Given the description of an element on the screen output the (x, y) to click on. 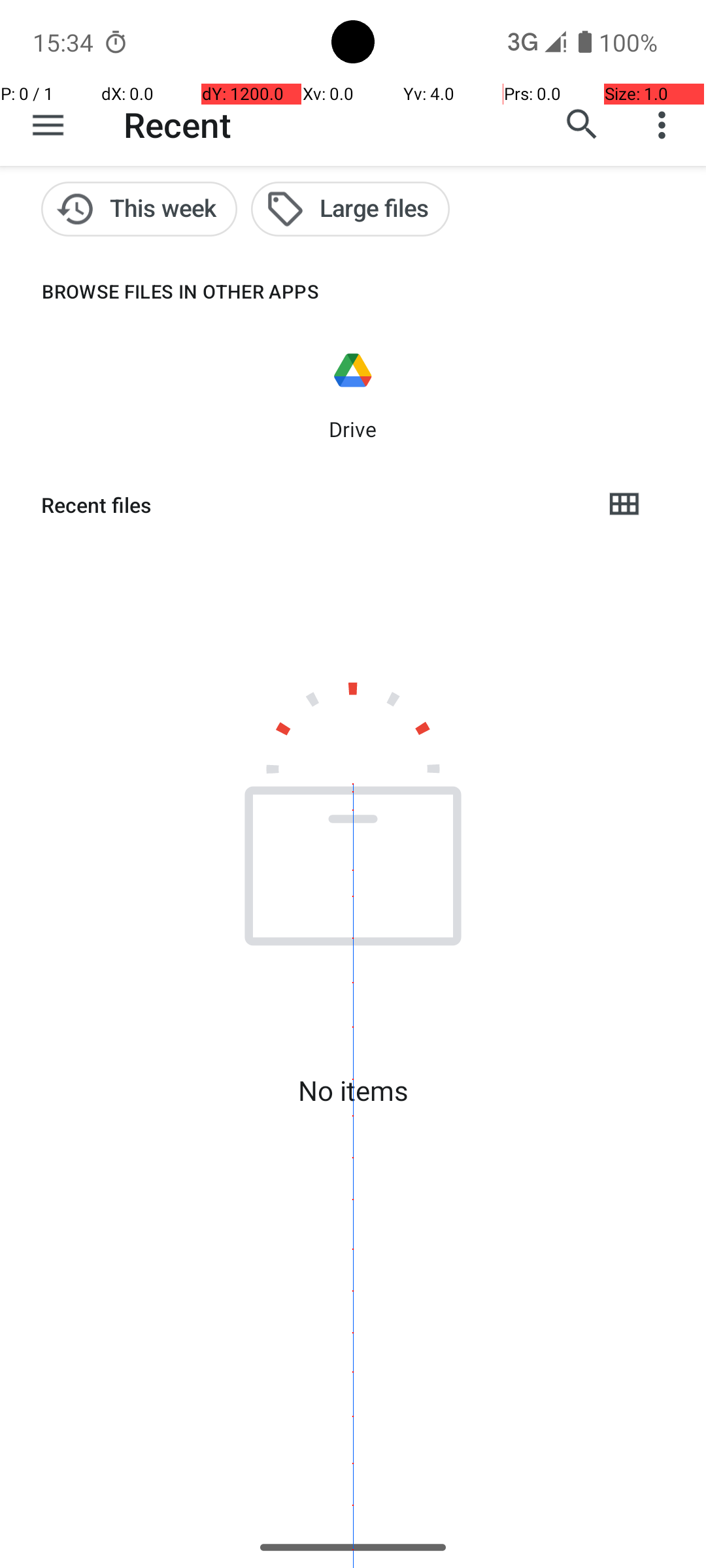
BROWSE FILES IN OTHER APPS Element type: android.widget.TextView (159, 291)
Recent files Element type: android.widget.TextView (311, 504)
Drive Element type: android.widget.TextView (352, 428)
